Given the description of an element on the screen output the (x, y) to click on. 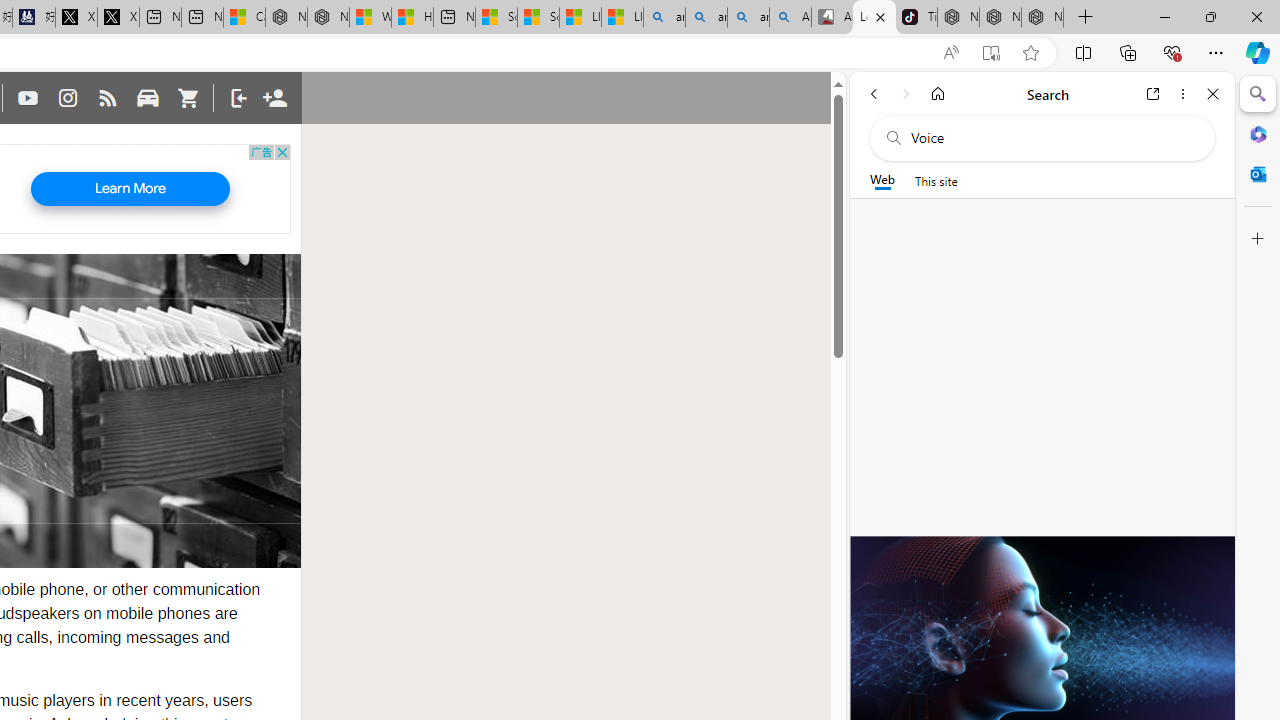
Nordace Siena Pro 15 Backpack (1000, 17)
